Given the description of an element on the screen output the (x, y) to click on. 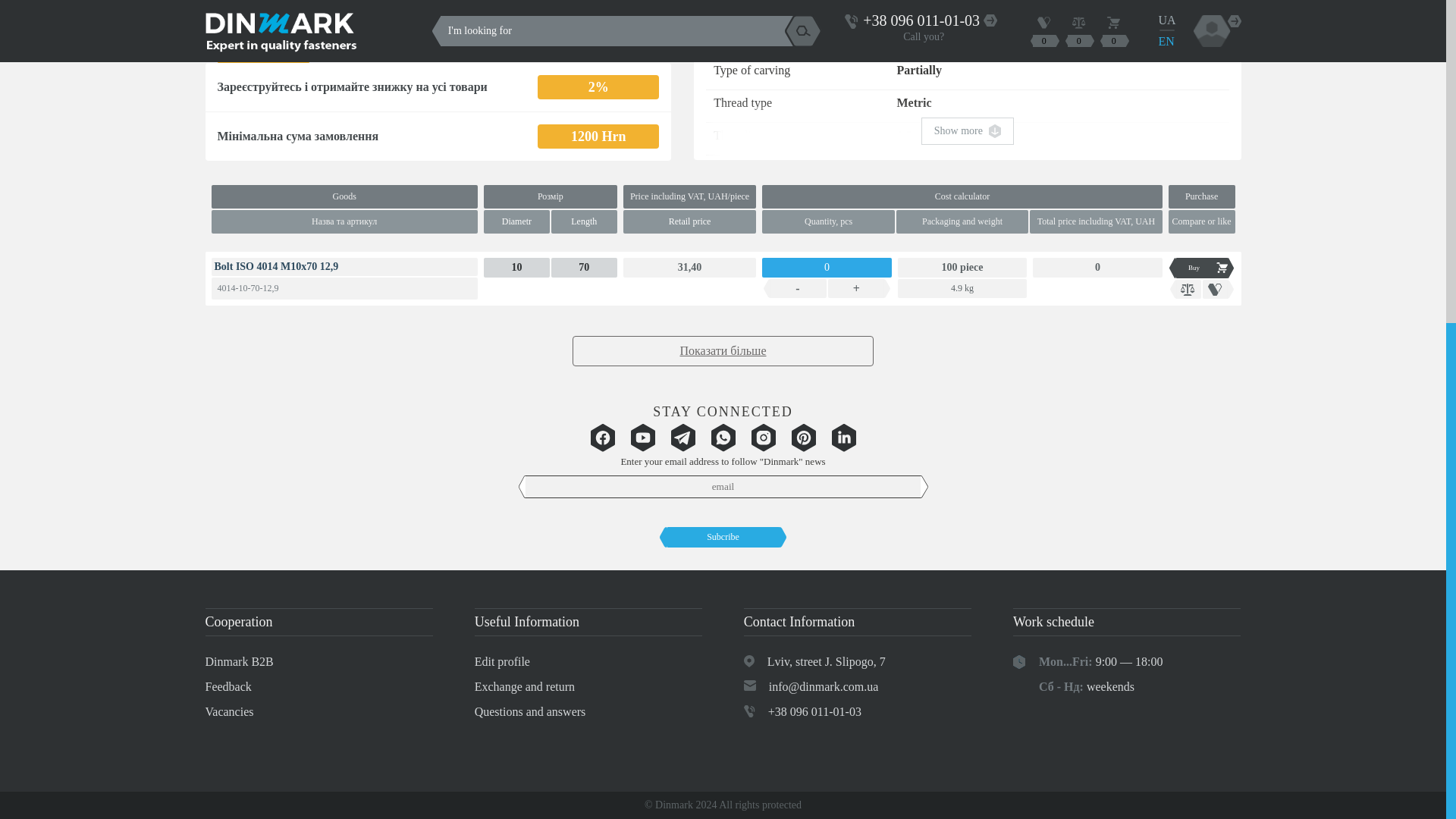
Add to compare (1185, 289)
Add to favorites (1218, 289)
